Given the description of an element on the screen output the (x, y) to click on. 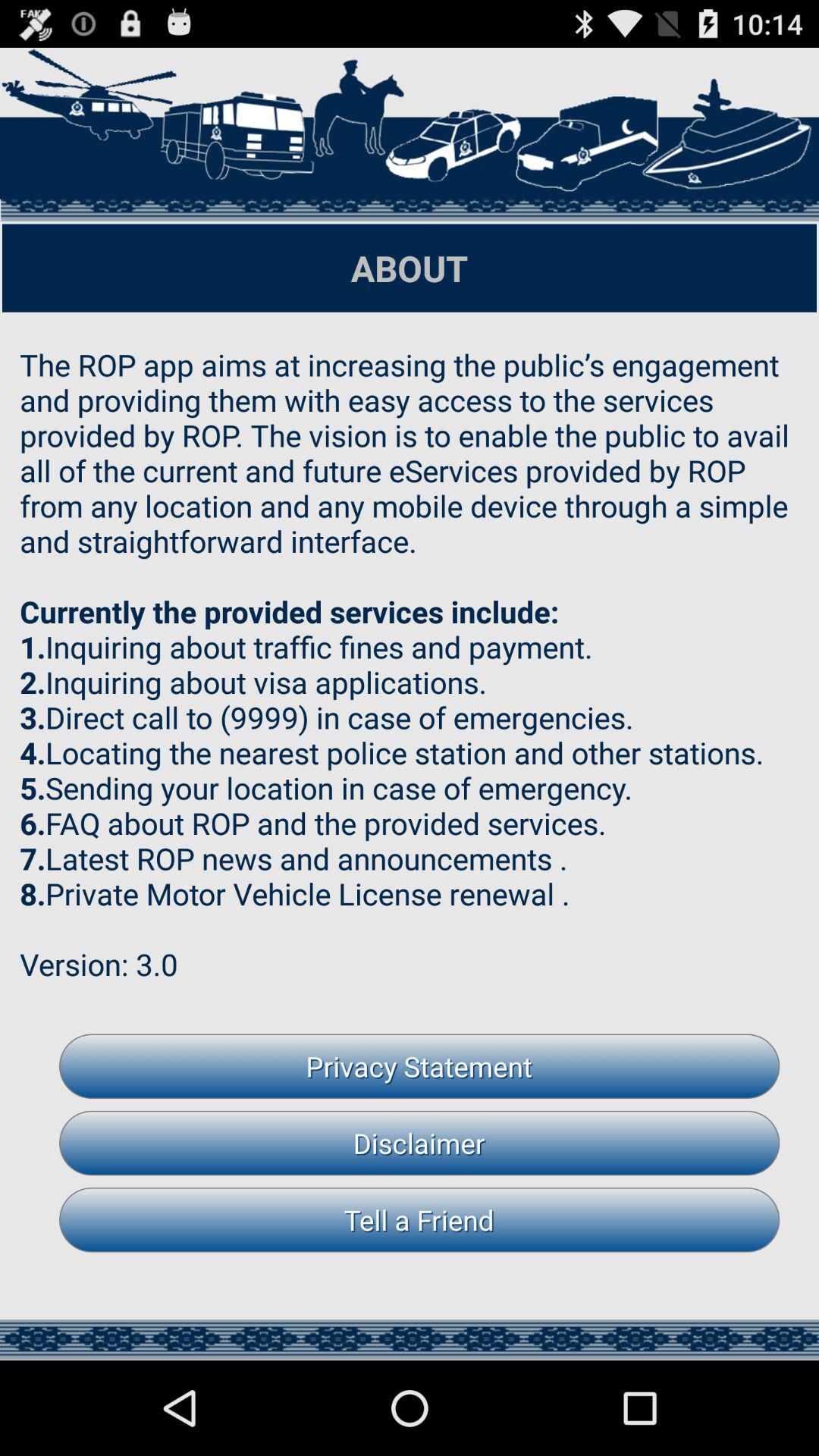
swipe to tell a friend item (419, 1219)
